Given the description of an element on the screen output the (x, y) to click on. 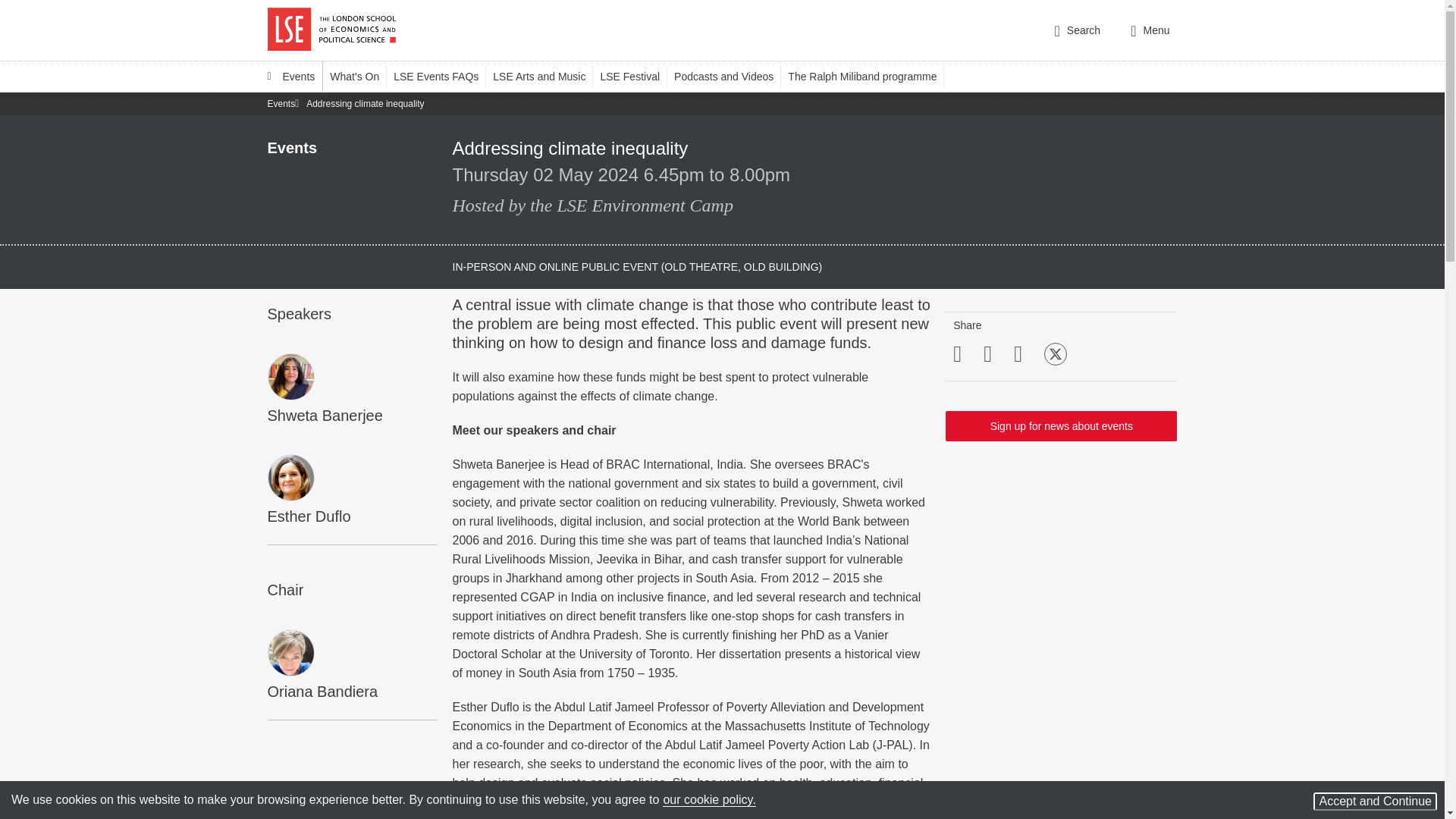
LSE Festival (636, 76)
Events (291, 76)
LSE Arts and Music (546, 76)
LSE Events FAQ (443, 76)
LSE Arts and Music (546, 76)
Menu (1150, 30)
What's On (361, 76)
The Ralph Miliband Programme (868, 76)
What's on (361, 76)
Podcasts and Videos (730, 76)
LSE Festival (636, 76)
LSE Events (291, 76)
London School of Economics and Political Science (330, 30)
Accept and Continue (1375, 801)
Podcasts and Videos (730, 76)
